Given the description of an element on the screen output the (x, y) to click on. 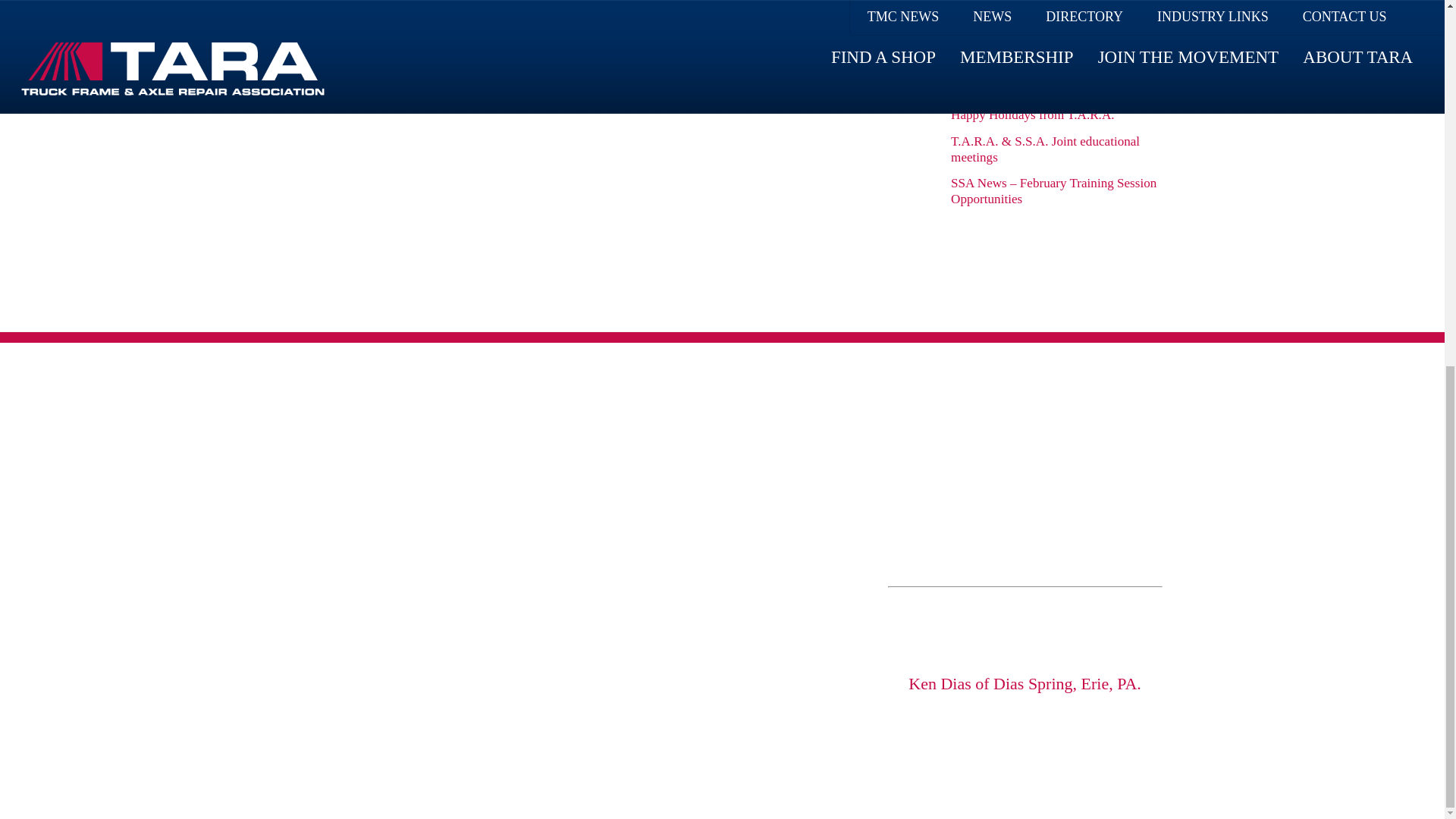
Challenges of Heavy Duty Frame Repair (1037, 54)
Sad News (976, 88)
Happy Holidays from T.A.R.A. (1031, 114)
